Given the description of an element on the screen output the (x, y) to click on. 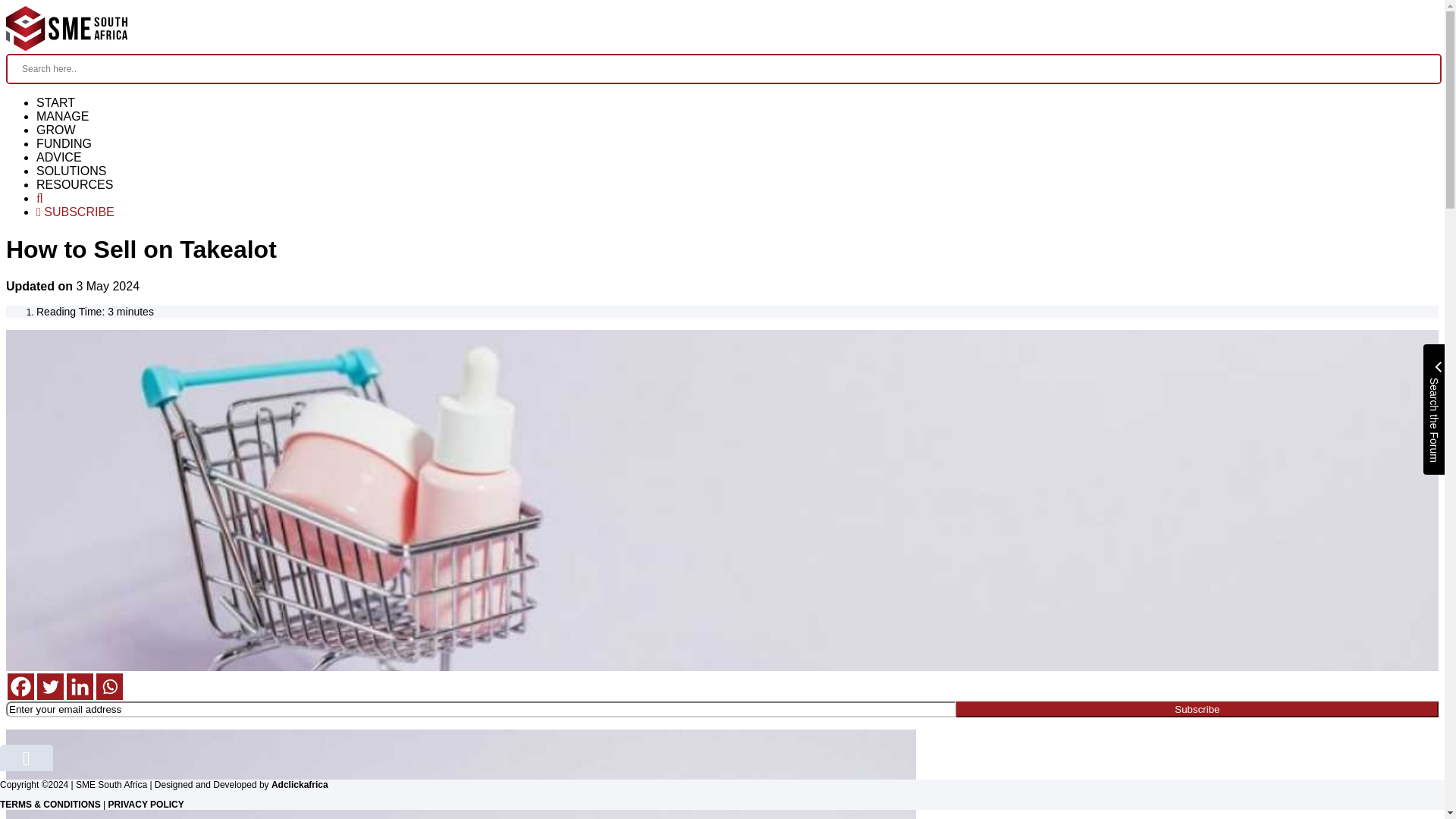
GROW (55, 129)
Twitter (50, 686)
RESOURCES (74, 184)
MANAGE (62, 115)
START (55, 102)
Whatsapp (109, 686)
ADVICE (58, 156)
Facebook (20, 686)
SUBSCRIBE (75, 211)
Linkedin (79, 686)
